Given the description of an element on the screen output the (x, y) to click on. 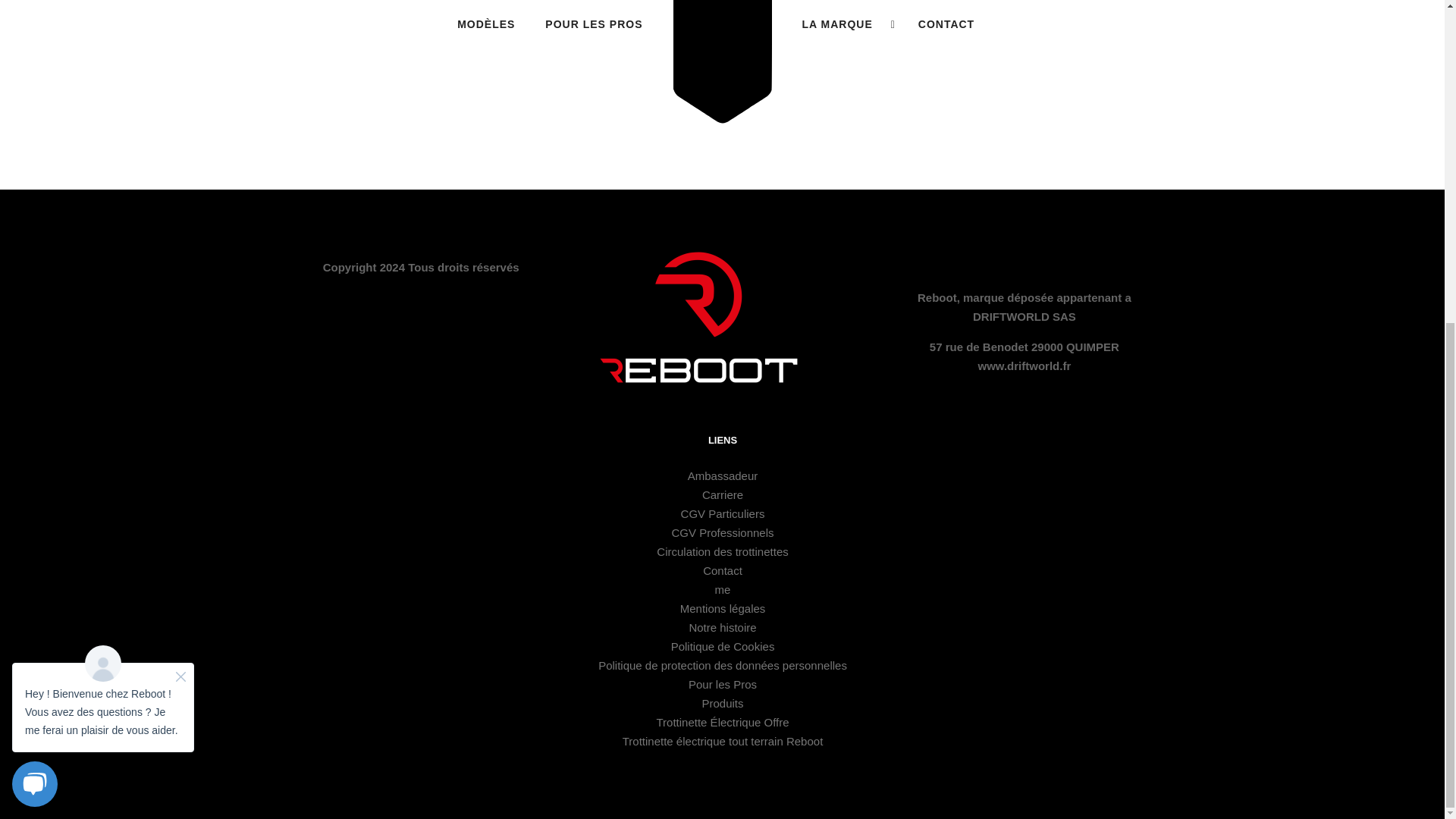
Ambassadeur (722, 475)
Politique de Cookies (722, 645)
Contact (722, 570)
Produits (722, 703)
Circulation des trottinettes (721, 551)
me (722, 589)
Carriere (721, 494)
CGV Professionnels (722, 532)
CGV Particuliers (723, 513)
Pour les Pros (722, 684)
Notre histoire (721, 626)
Chat Widget (103, 199)
